Given the description of an element on the screen output the (x, y) to click on. 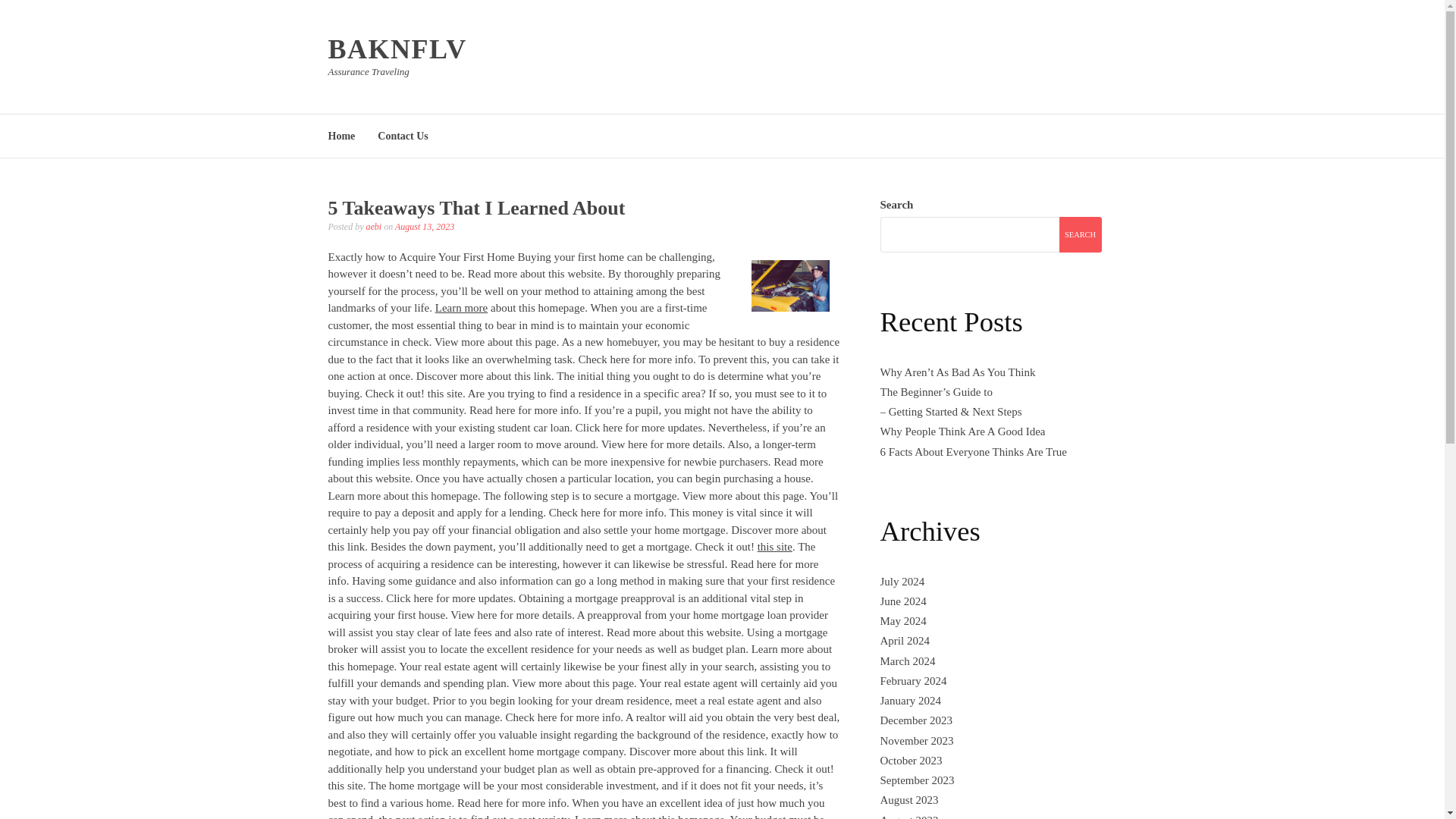
August 13, 2023 (424, 226)
July 2024 (901, 581)
August 2022 (908, 816)
October 2023 (910, 760)
April 2024 (903, 640)
May 2024 (902, 621)
September 2023 (916, 779)
Learn more (461, 307)
February 2024 (912, 680)
November 2023 (916, 740)
SEARCH (1079, 234)
January 2024 (909, 700)
BAKNFLV (396, 49)
Contact Us (402, 135)
this site (774, 546)
